Given the description of an element on the screen output the (x, y) to click on. 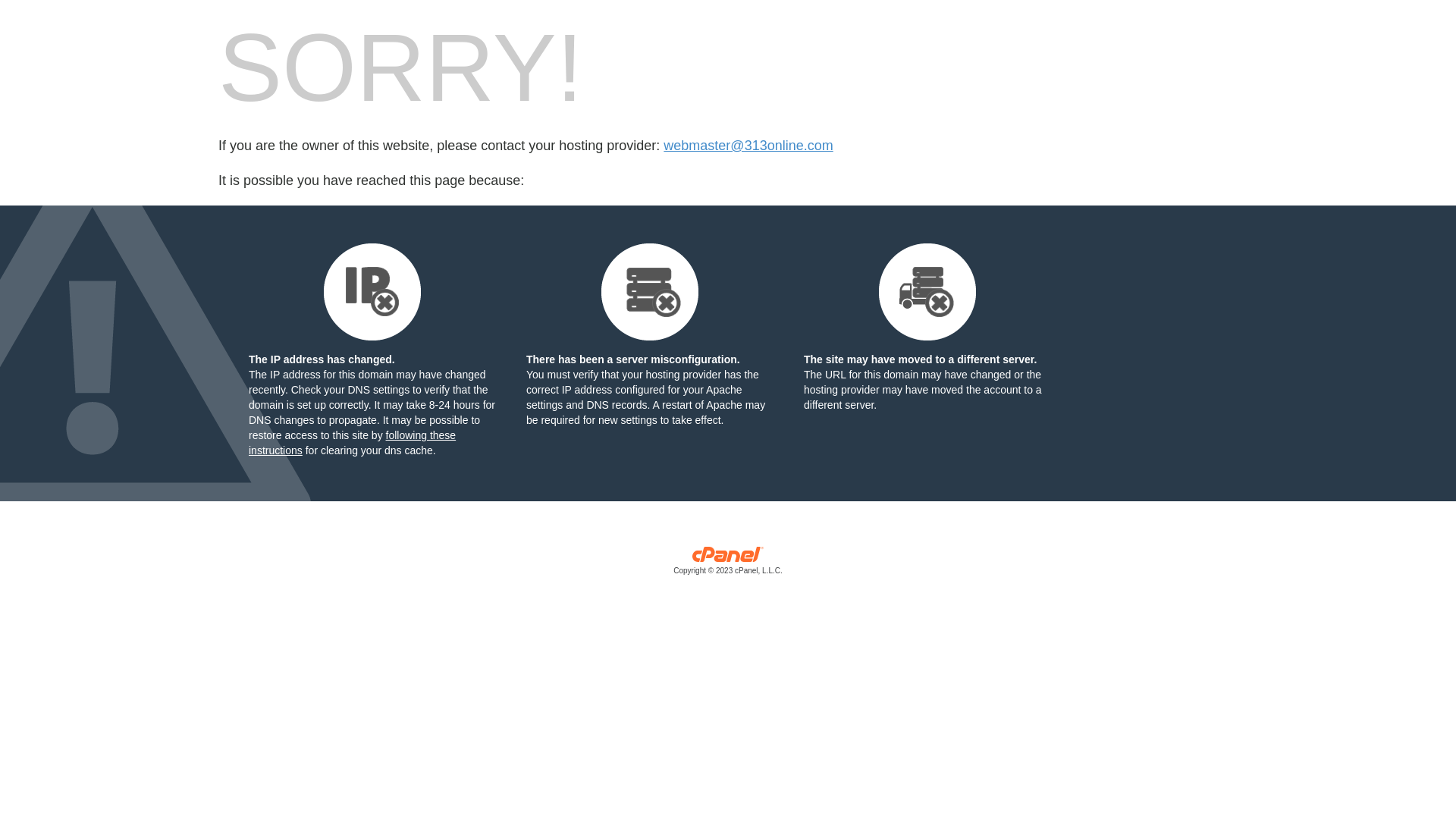
following these instructions Element type: text (351, 442)
webmaster@313online.com Element type: text (747, 145)
